Given the description of an element on the screen output the (x, y) to click on. 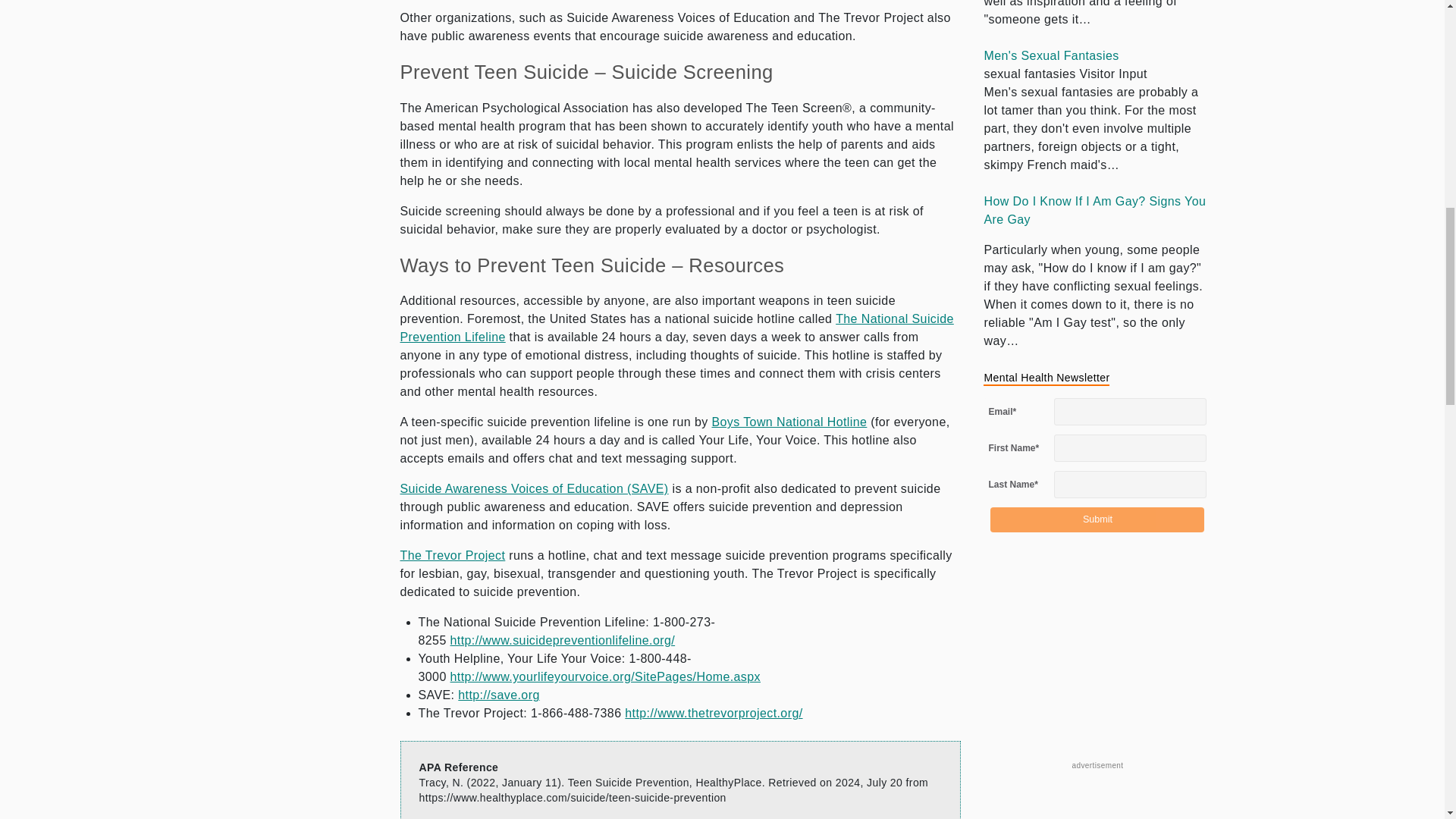
Submit (1097, 519)
